Given the description of an element on the screen output the (x, y) to click on. 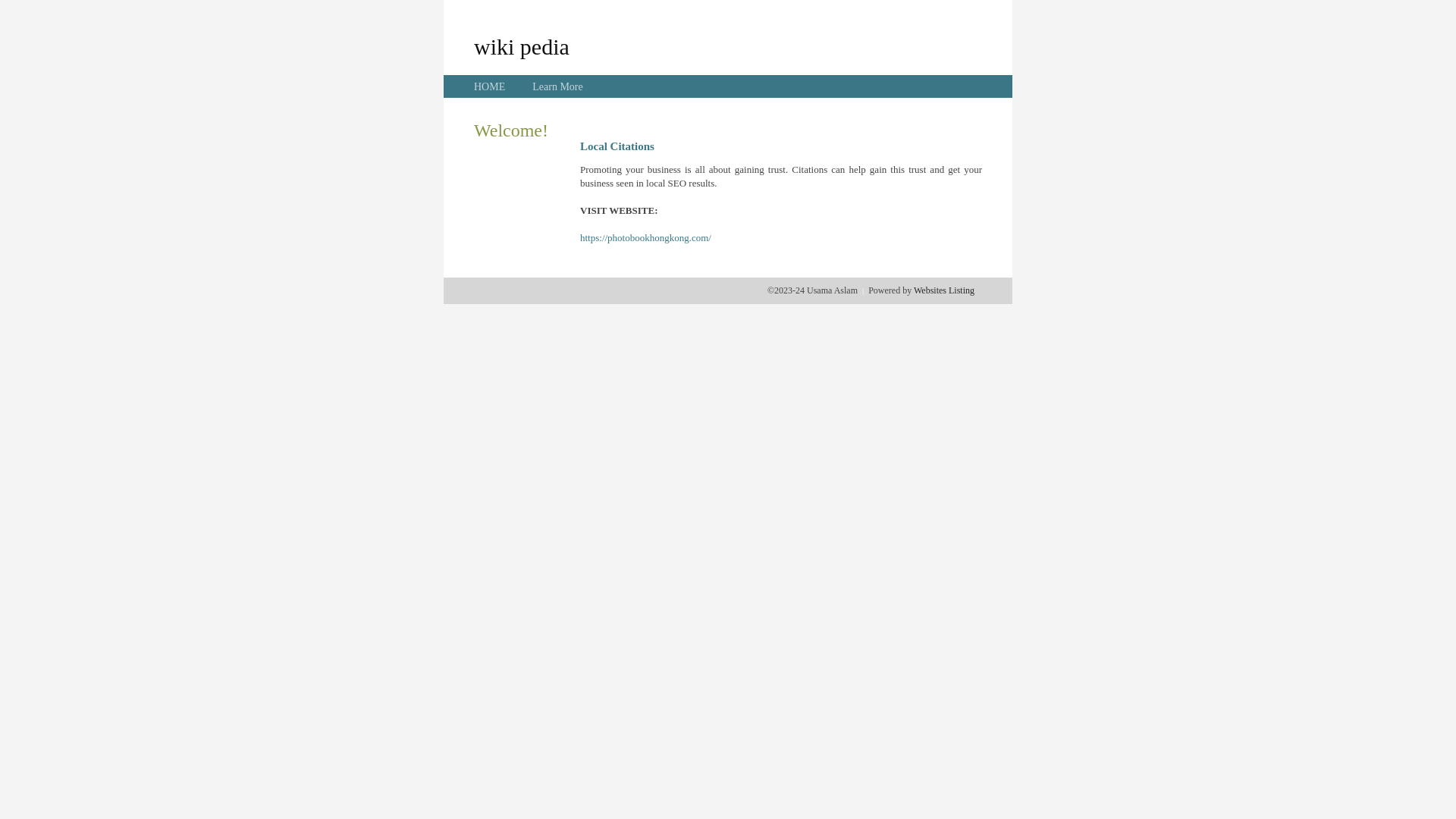
Learn More Element type: text (557, 86)
https://photobookhongkong.com/ Element type: text (645, 237)
HOME Element type: text (489, 86)
Websites Listing Element type: text (943, 290)
wiki pedia Element type: text (521, 46)
